Given the description of an element on the screen output the (x, y) to click on. 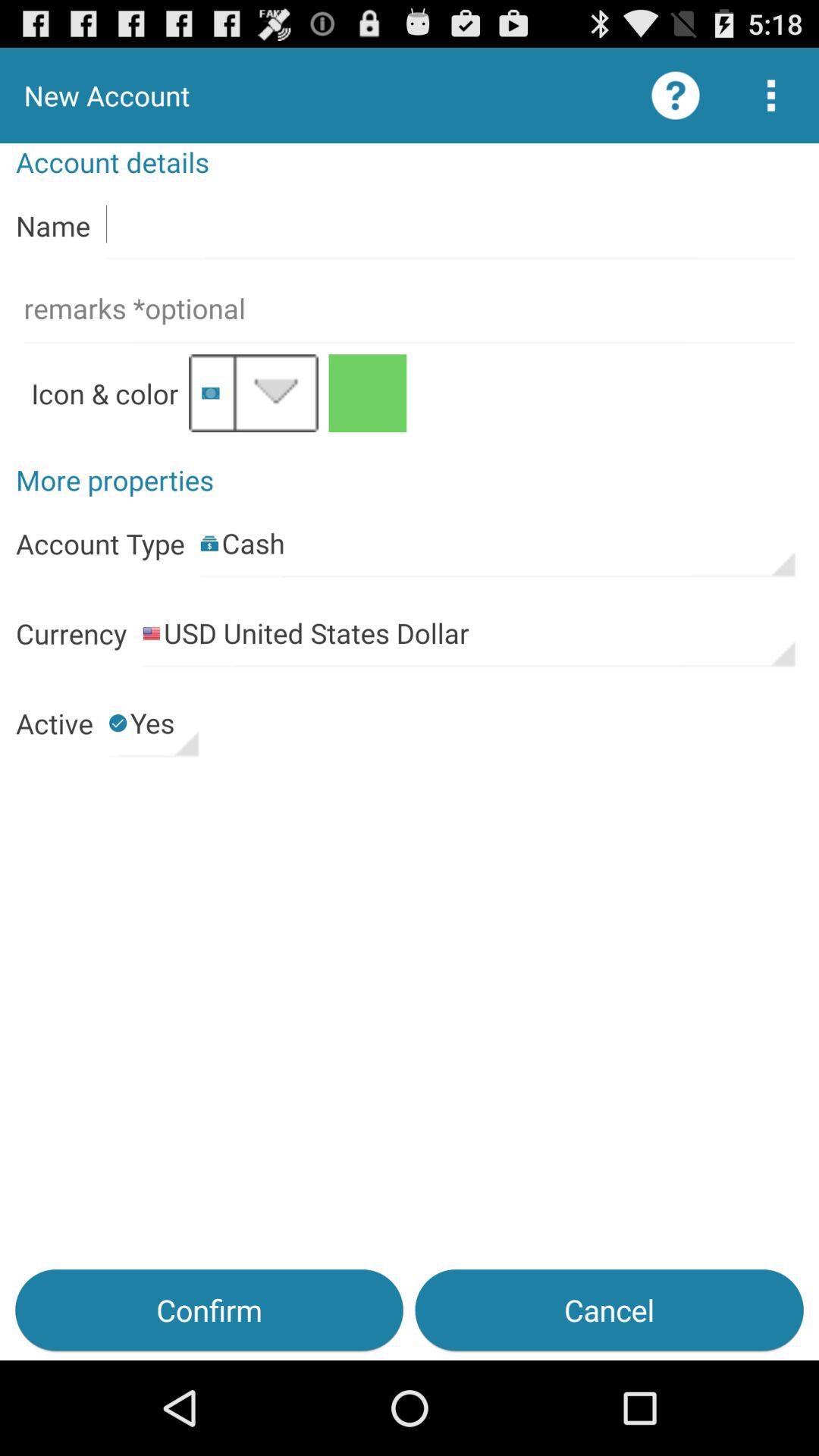
write name (450, 225)
